Given the description of an element on the screen output the (x, y) to click on. 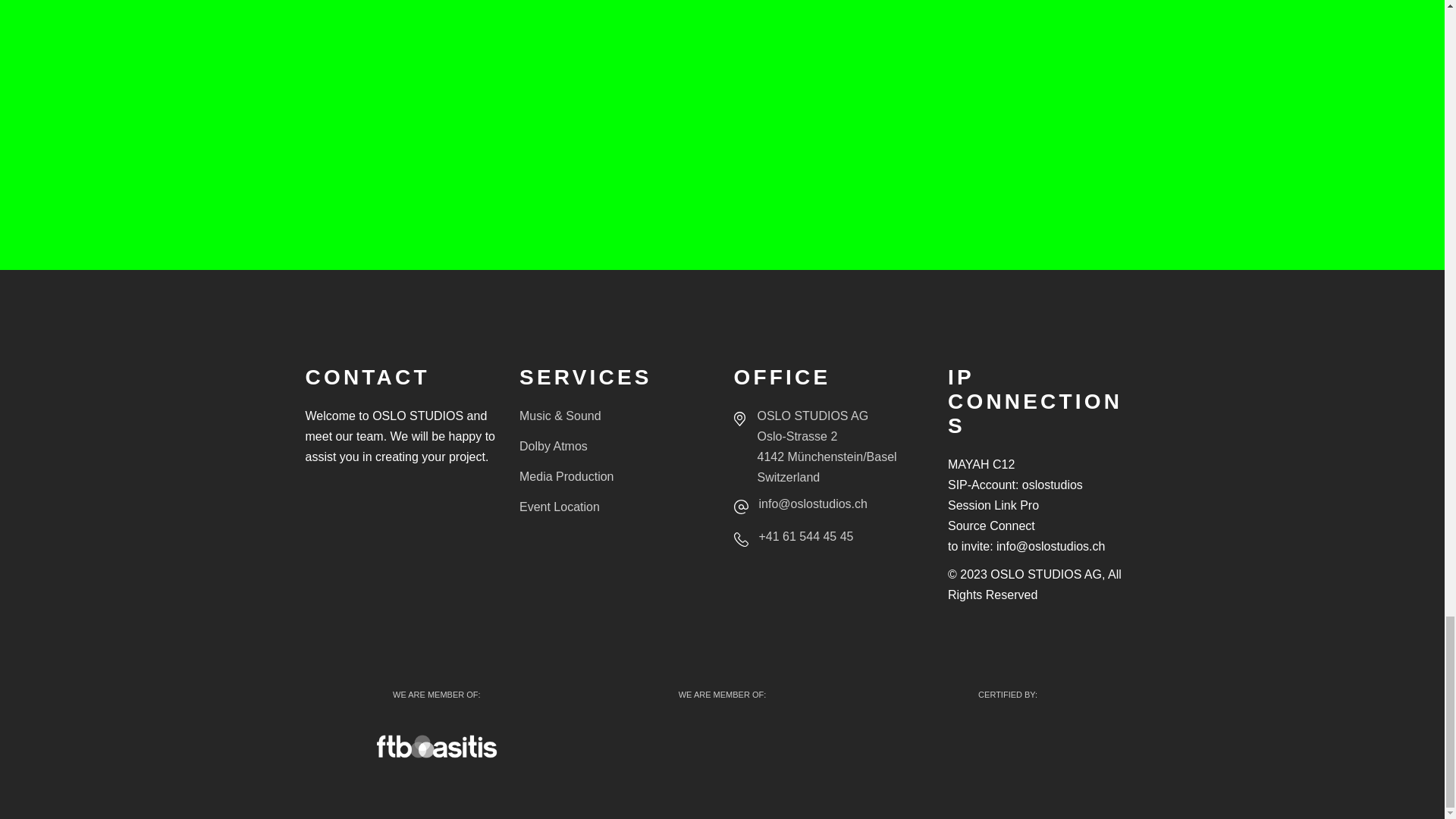
Event Location (559, 506)
Media Production (566, 476)
Dolby Atmos (553, 445)
